Given the description of an element on the screen output the (x, y) to click on. 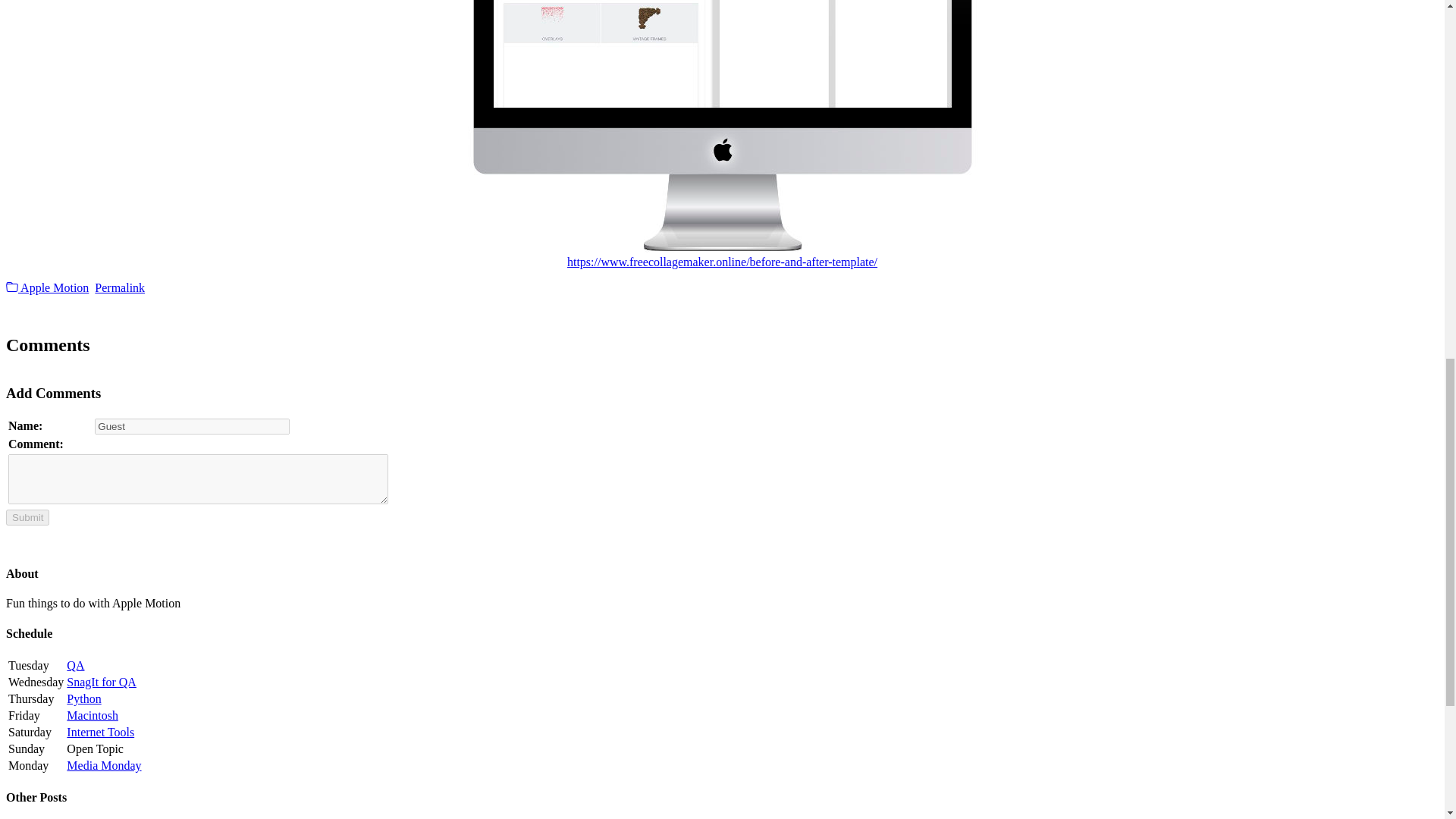
Python (83, 698)
Internet Tools (99, 731)
Submit (27, 517)
Apple Motion (46, 287)
Macintosh (91, 715)
SnagIt for QA (101, 681)
Media Monday (103, 765)
QA (75, 665)
Submit (27, 517)
Permalink (119, 287)
Guest (191, 426)
